Given the description of an element on the screen output the (x, y) to click on. 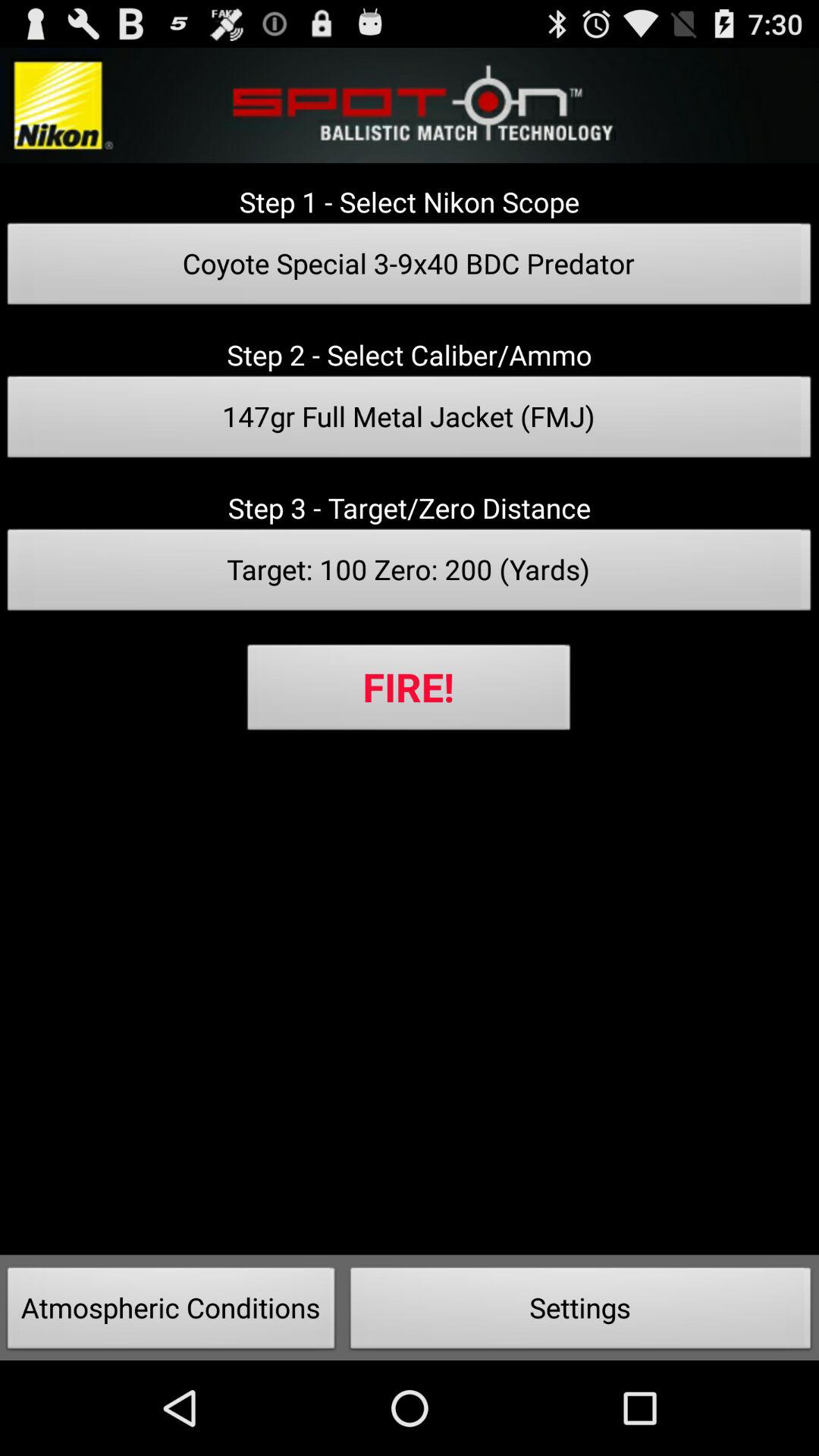
turn off app below step 1 select icon (409, 268)
